Given the description of an element on the screen output the (x, y) to click on. 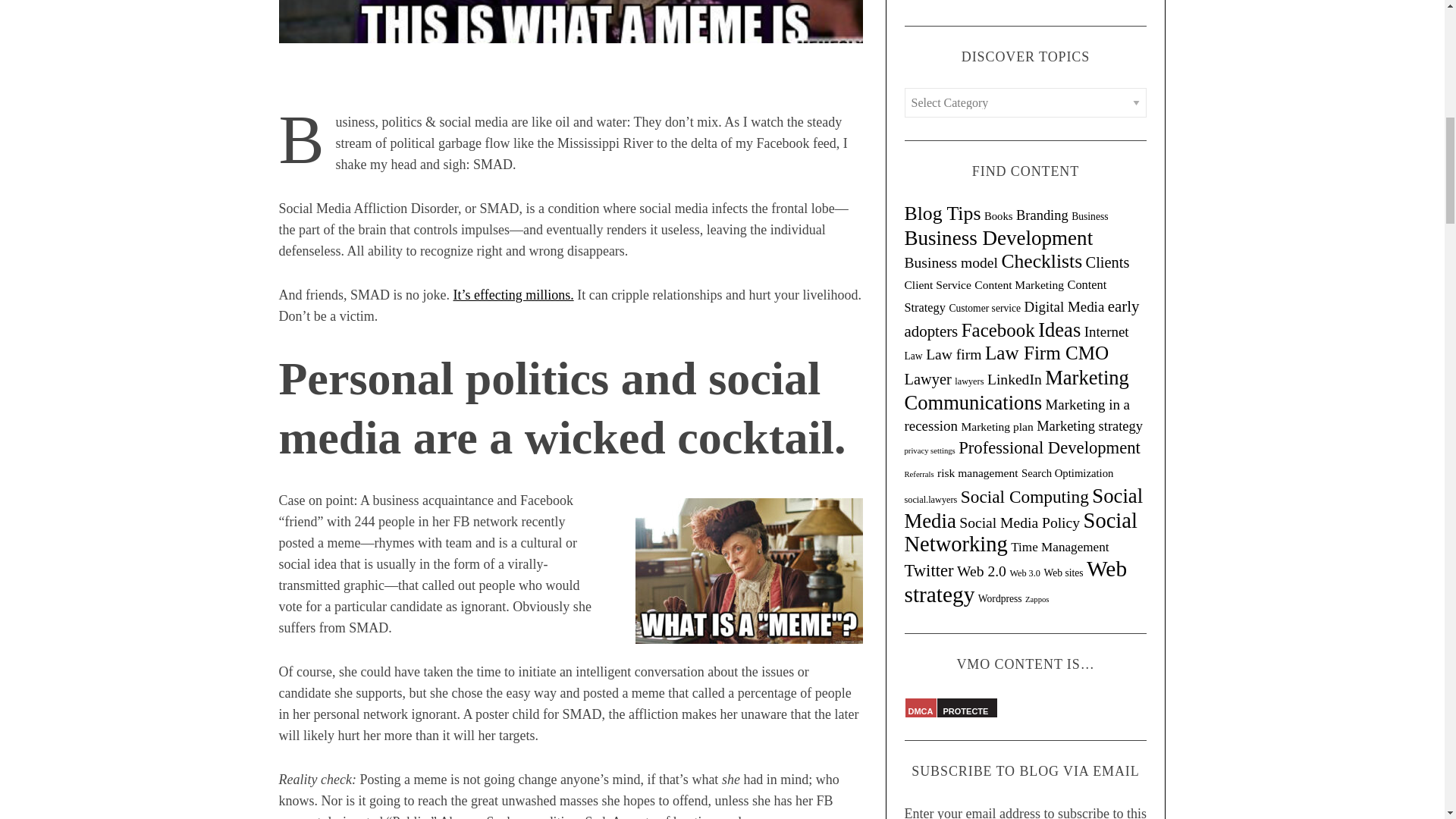
DMCA (920, 710)
DMCA (965, 723)
